Given the description of an element on the screen output the (x, y) to click on. 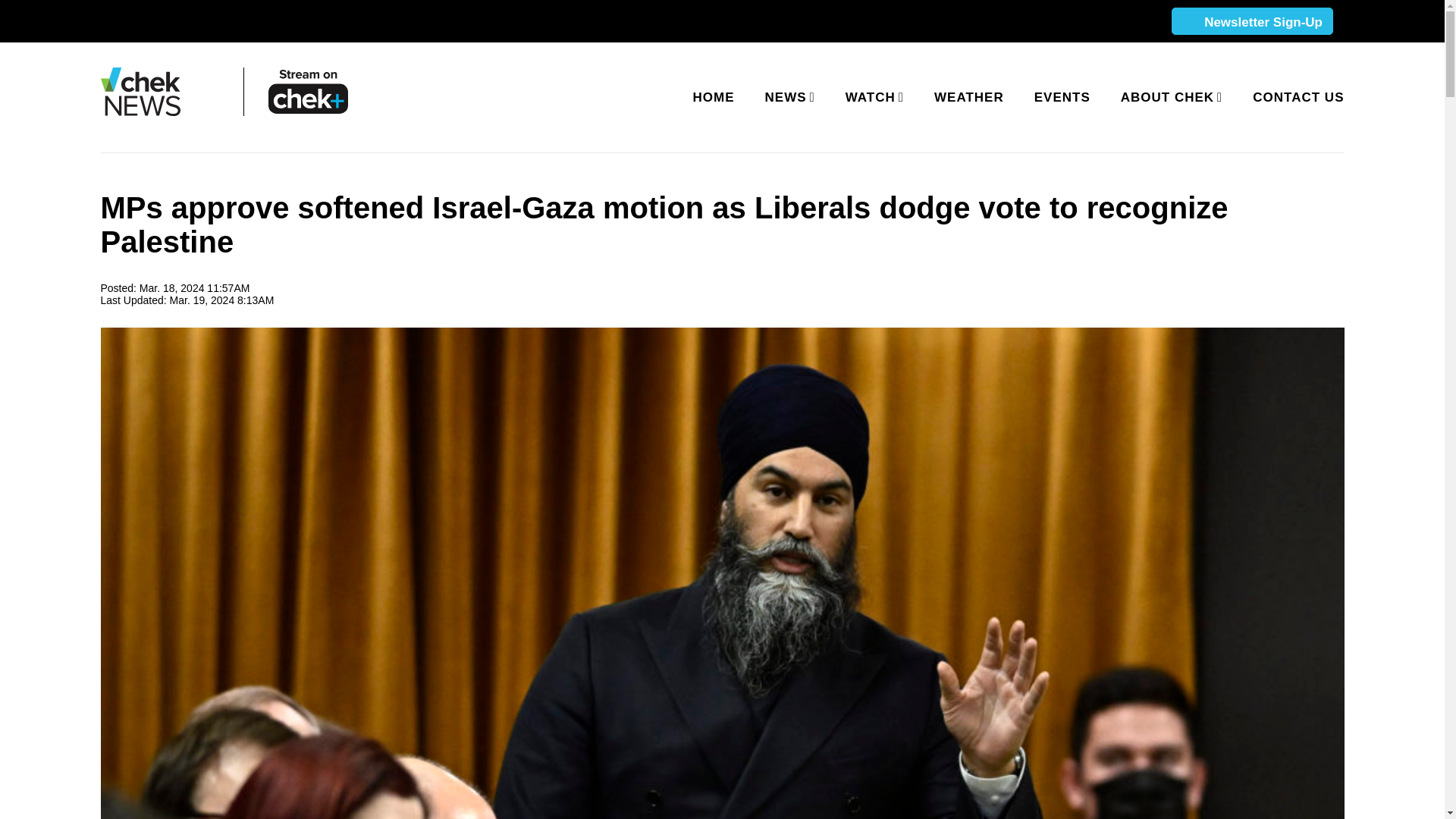
Newsletter Sign-Up (1251, 22)
HOME (714, 96)
NEWS (787, 96)
